Given the description of an element on the screen output the (x, y) to click on. 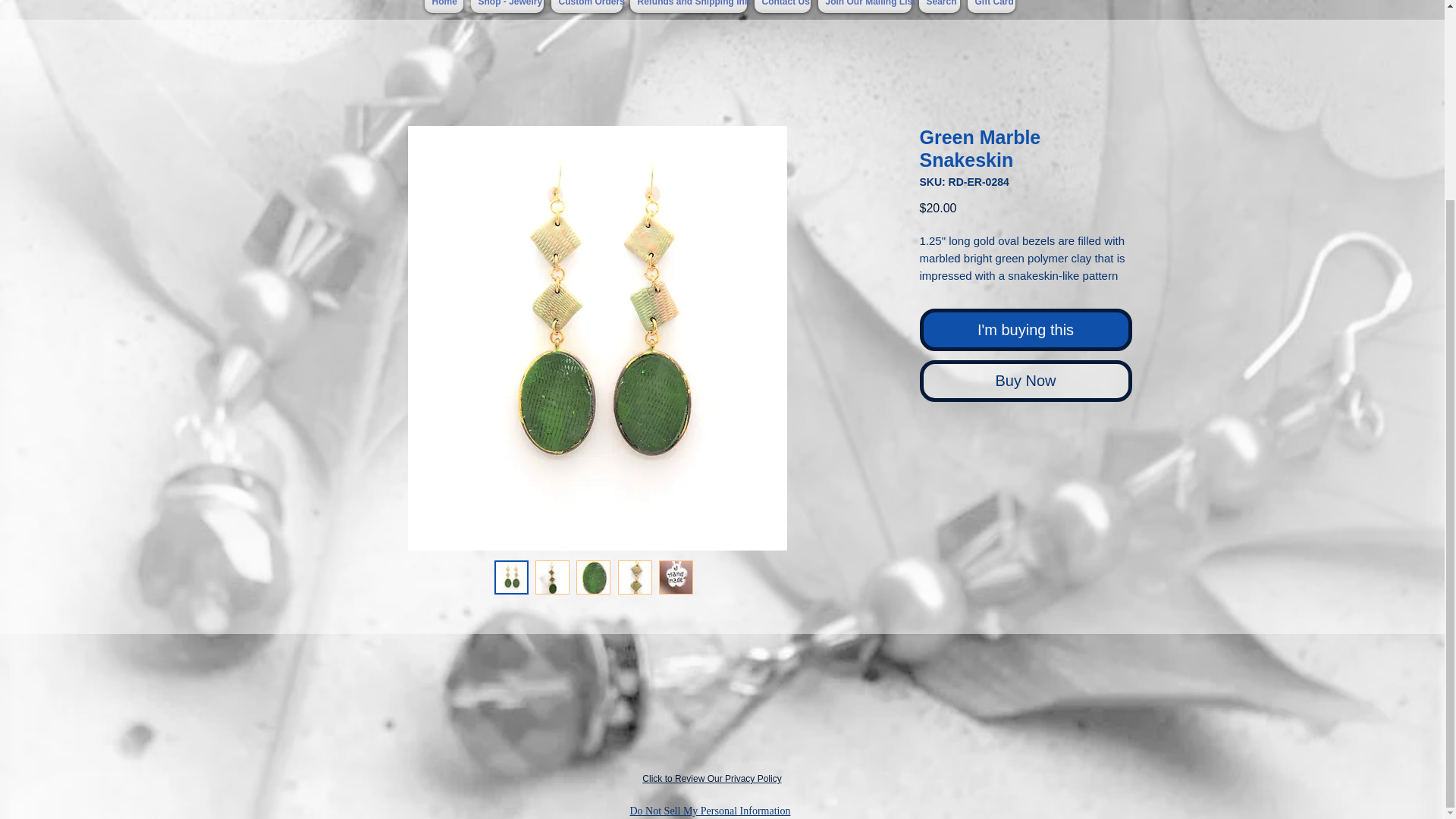
Contact Us (782, 6)
Home (442, 6)
Custom Orders (586, 6)
Join Our Mailing List (864, 6)
Refunds and Shipping Info (688, 6)
